Given the description of an element on the screen output the (x, y) to click on. 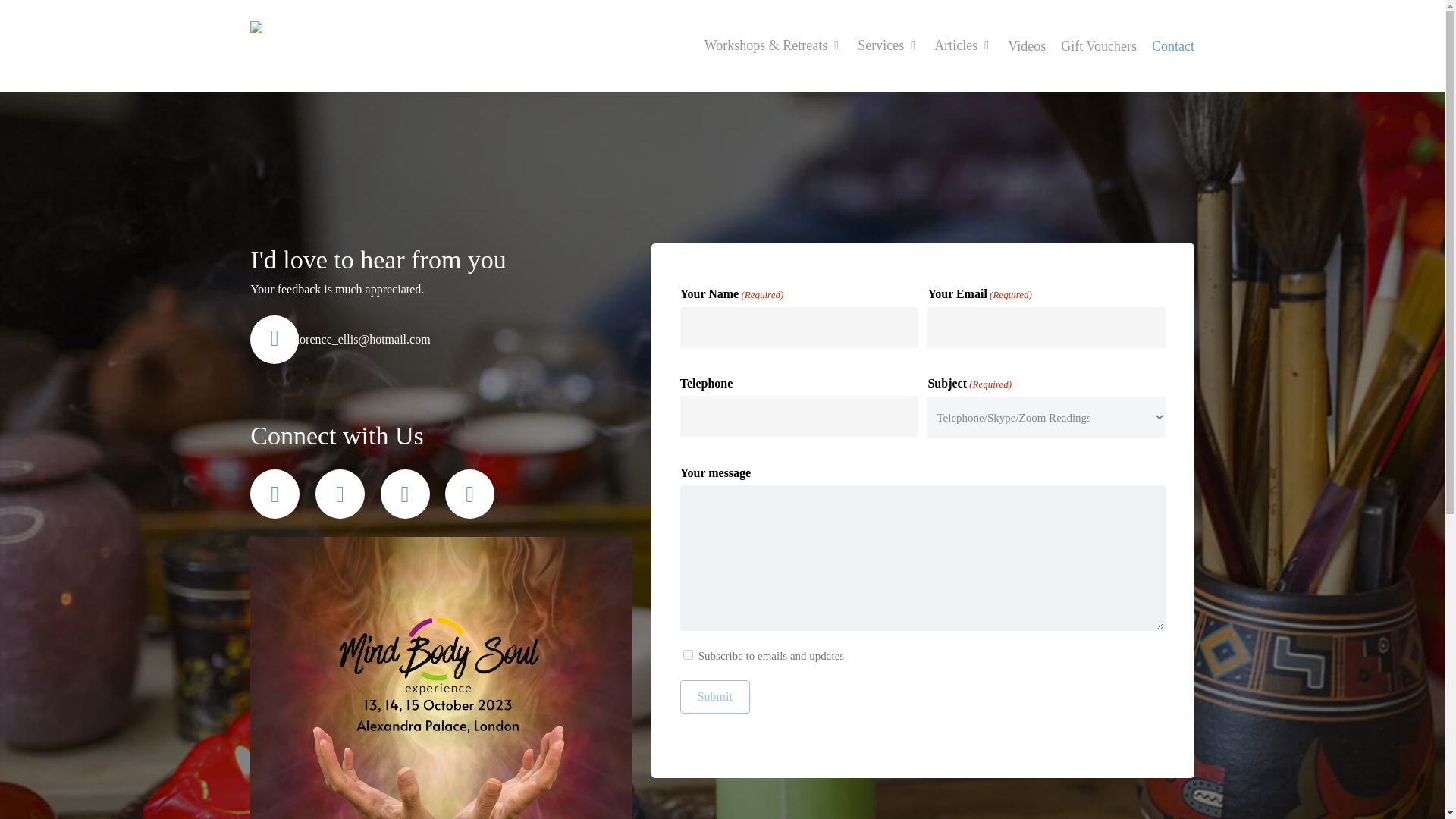
Subscribe to emails and updates (687, 655)
Services (888, 45)
Submit (714, 696)
Articles (963, 45)
Submit (714, 696)
Videos (1026, 46)
Gift Vouchers (1098, 46)
Contact (1168, 46)
